Given the description of an element on the screen output the (x, y) to click on. 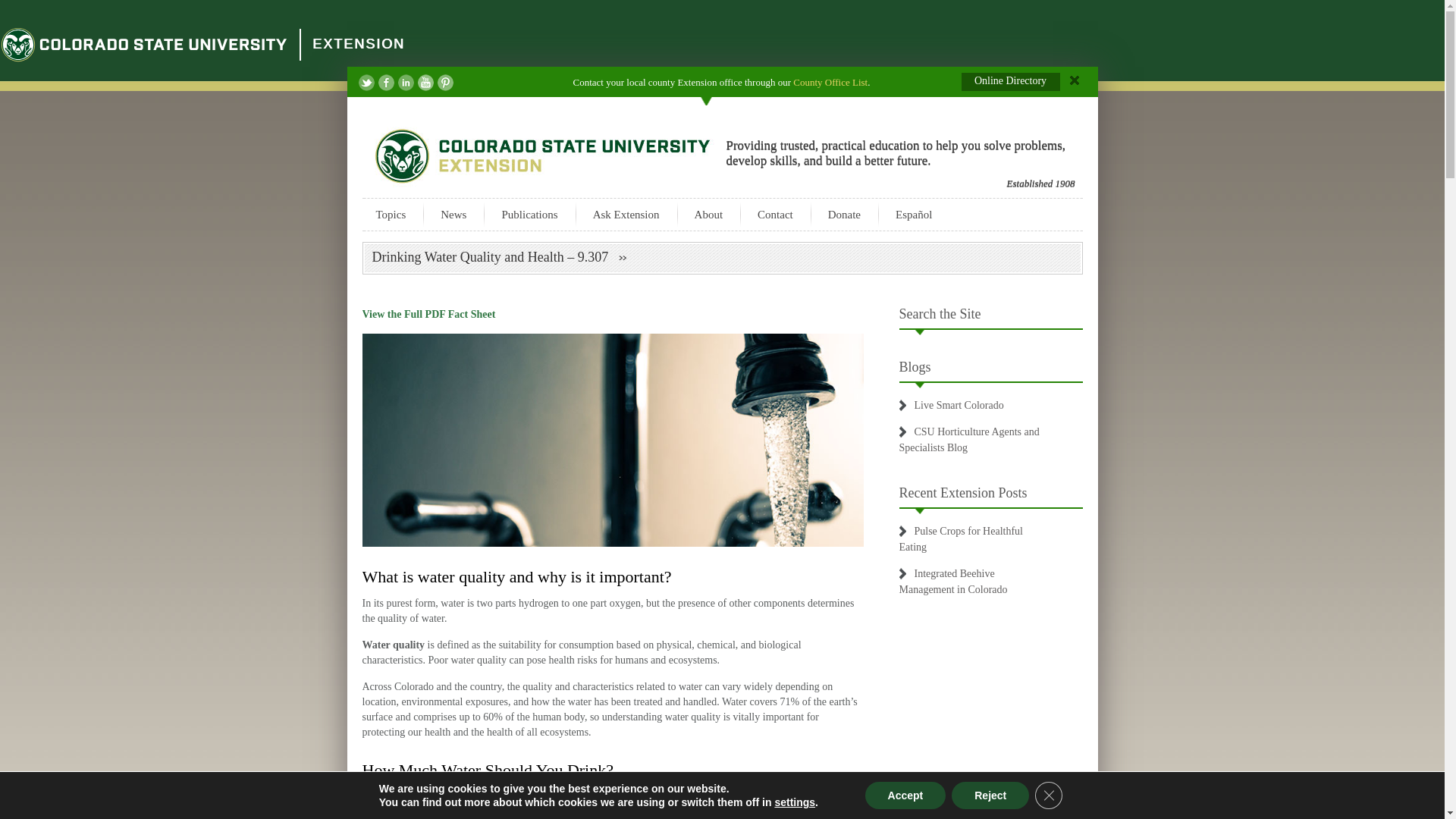
EXTENSION (358, 43)
Online Directory (1018, 84)
Contact (775, 214)
Publications (528, 214)
Colorado State University (144, 44)
About (708, 214)
News (453, 214)
Ask Extension (625, 214)
Tweet this (366, 82)
Topics (391, 214)
Share on Linkedin (405, 82)
Pinterest (444, 82)
Donate (844, 214)
County Office List (830, 81)
Share on Facebook (385, 82)
